Given the description of an element on the screen output the (x, y) to click on. 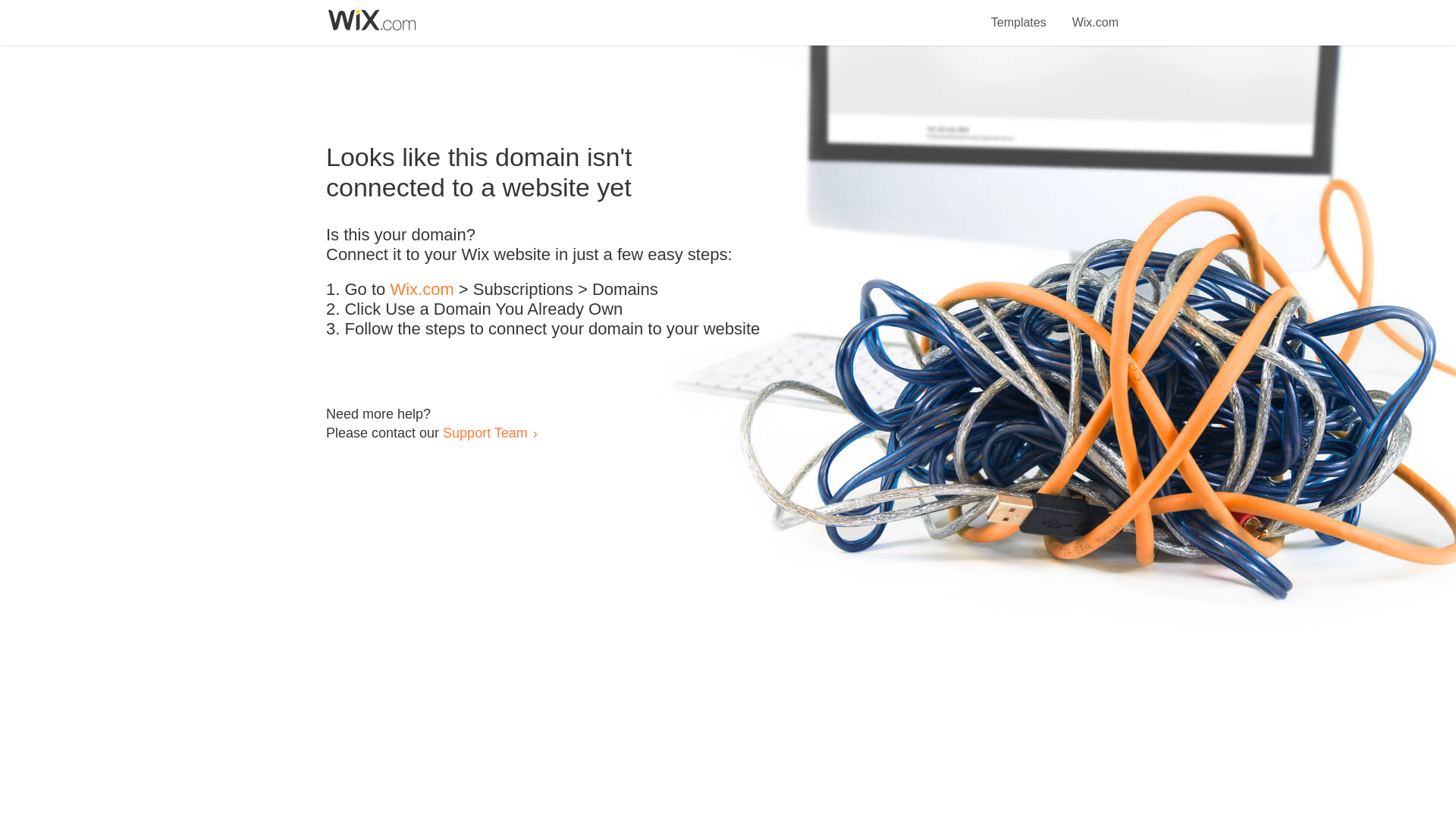
Wix.com (1095, 14)
Support Team (484, 432)
Templates (1018, 14)
Wix.com (421, 289)
